Given the description of an element on the screen output the (x, y) to click on. 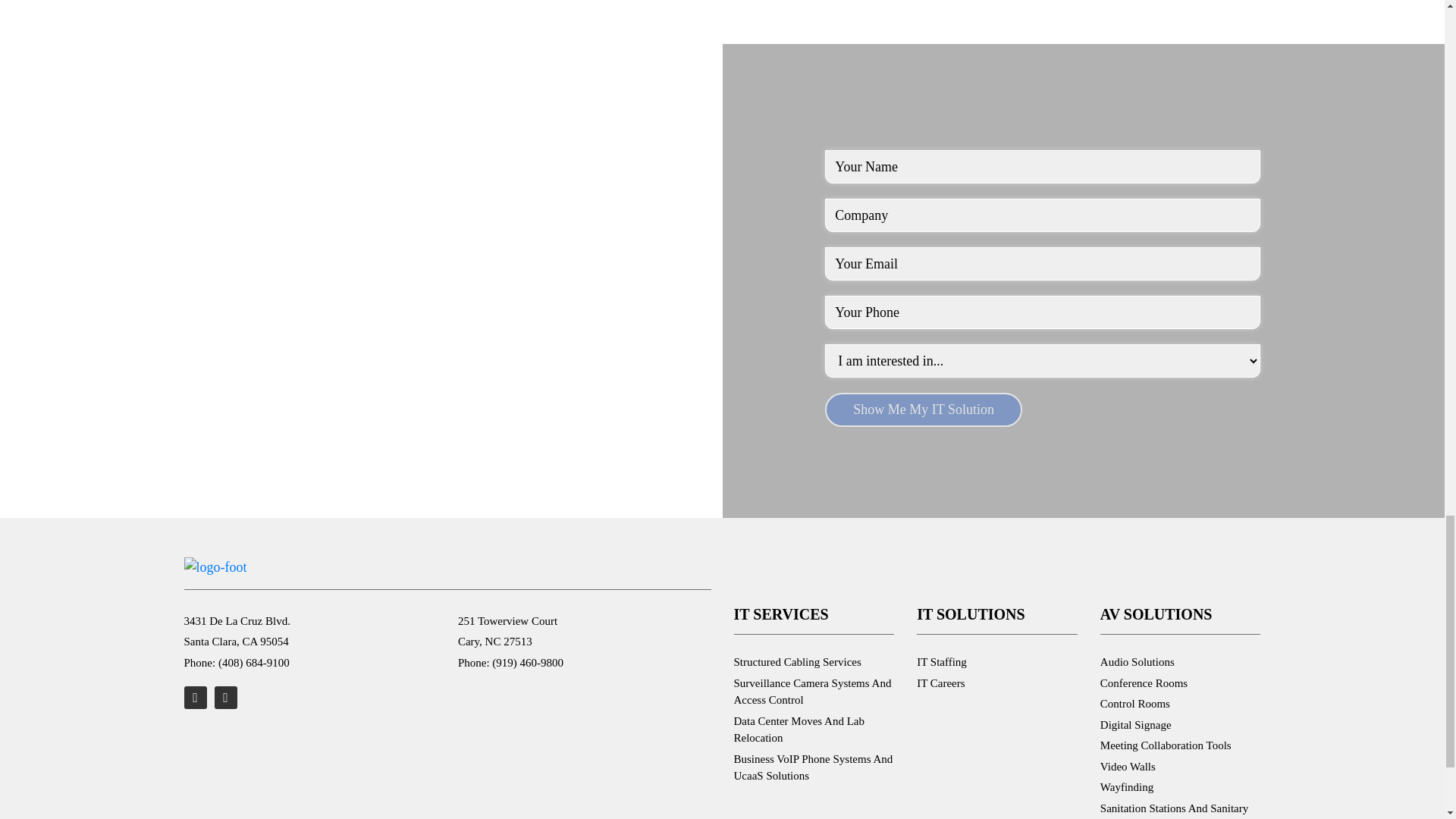
Show Me My IT Solution (923, 409)
Show Me My IT Solution (923, 409)
